Given the description of an element on the screen output the (x, y) to click on. 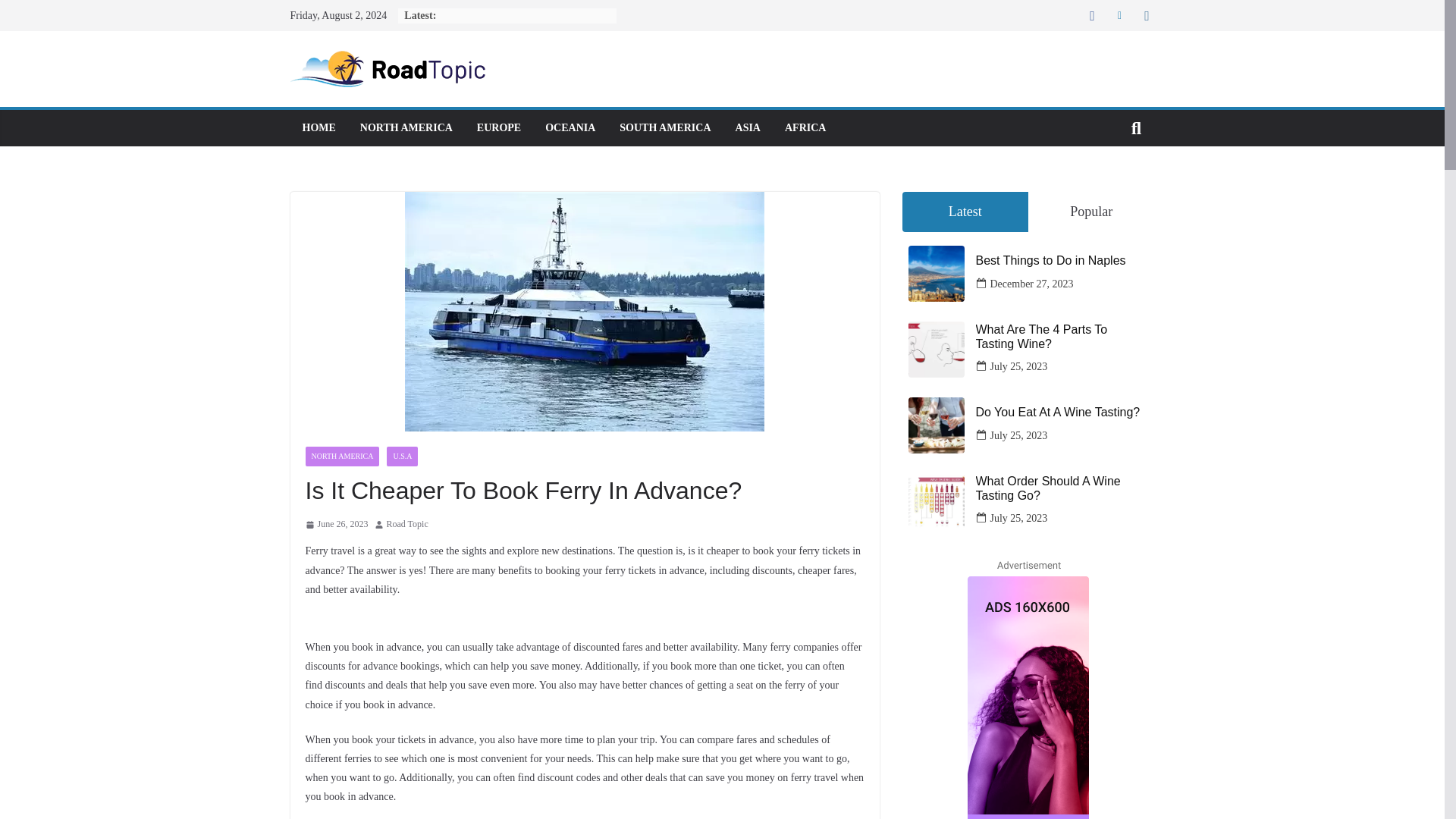
NORTH AMERICA (341, 456)
ASIA (747, 127)
10:45 pm (336, 524)
OCEANIA (569, 127)
AFRICA (804, 127)
Road Topic (407, 524)
U.S.A (402, 456)
Best Things to Do in Naples (1061, 260)
June 26, 2023 (336, 524)
What Are The 4 Parts To Tasting Wine? (1061, 336)
July 25, 2023 (1019, 435)
July 25, 2023 (1019, 517)
Road Topic (407, 524)
HOME (317, 127)
December 27, 2023 (1032, 283)
